Given the description of an element on the screen output the (x, y) to click on. 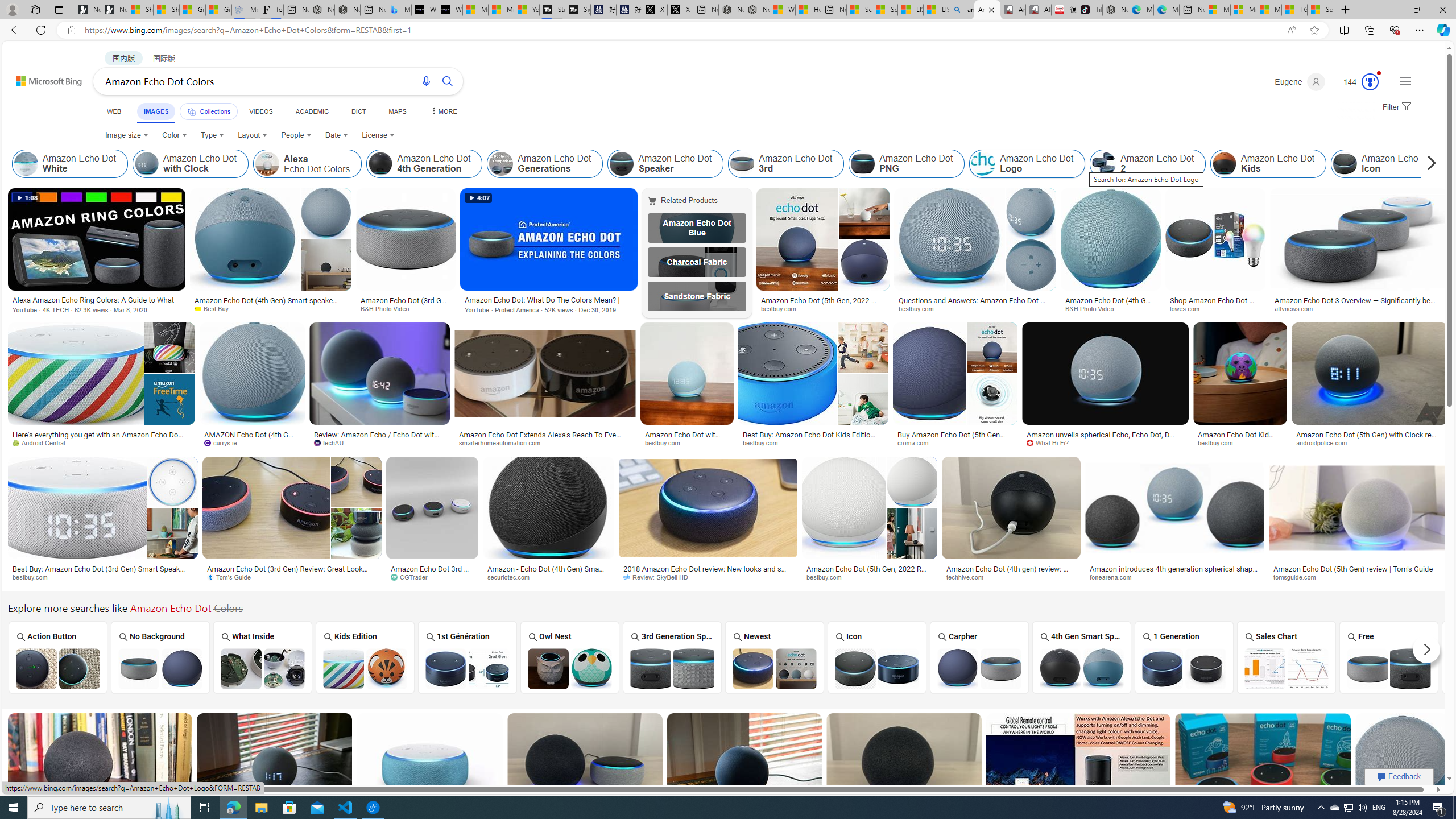
Image size (127, 135)
croma.com (954, 442)
Alexa Echo Dot Colors (266, 163)
Amazon Echo Dot Speaker (665, 163)
androidpolice.com (1368, 442)
tomsguide.com (1298, 576)
Back to Bing search (41, 78)
Eugene (1299, 81)
CGTrader (412, 576)
